Given the description of an element on the screen output the (x, y) to click on. 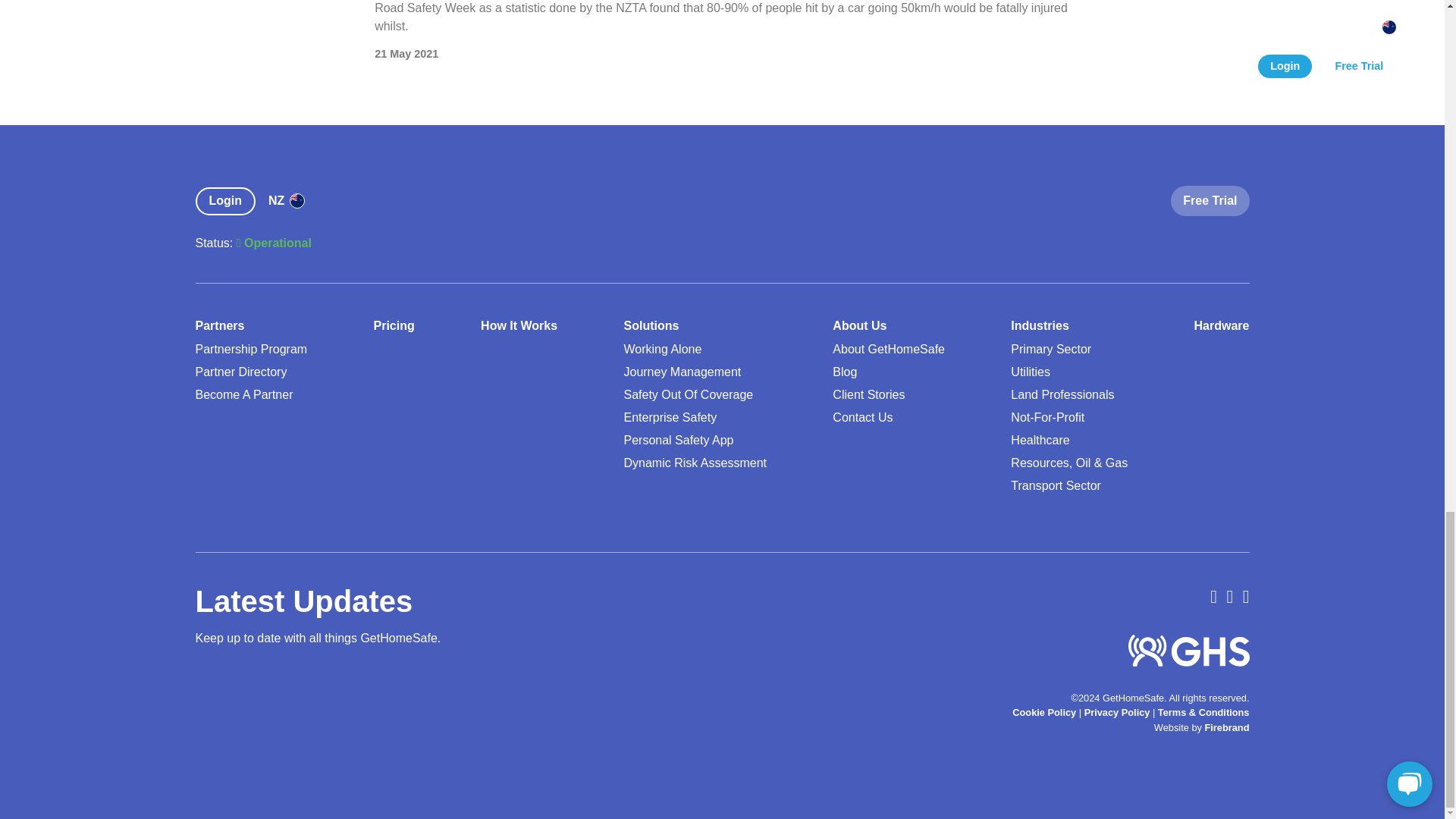
Partners (219, 325)
All systems are operational (273, 242)
Working Alone (662, 349)
Solutions (650, 325)
Partnership Program (251, 349)
Pricing (392, 325)
Operational (273, 242)
How It Works (518, 325)
Login (229, 201)
Free Trial (1209, 200)
Become A Partner (244, 394)
Partner Directory (240, 371)
Form 0 (328, 709)
